Given the description of an element on the screen output the (x, y) to click on. 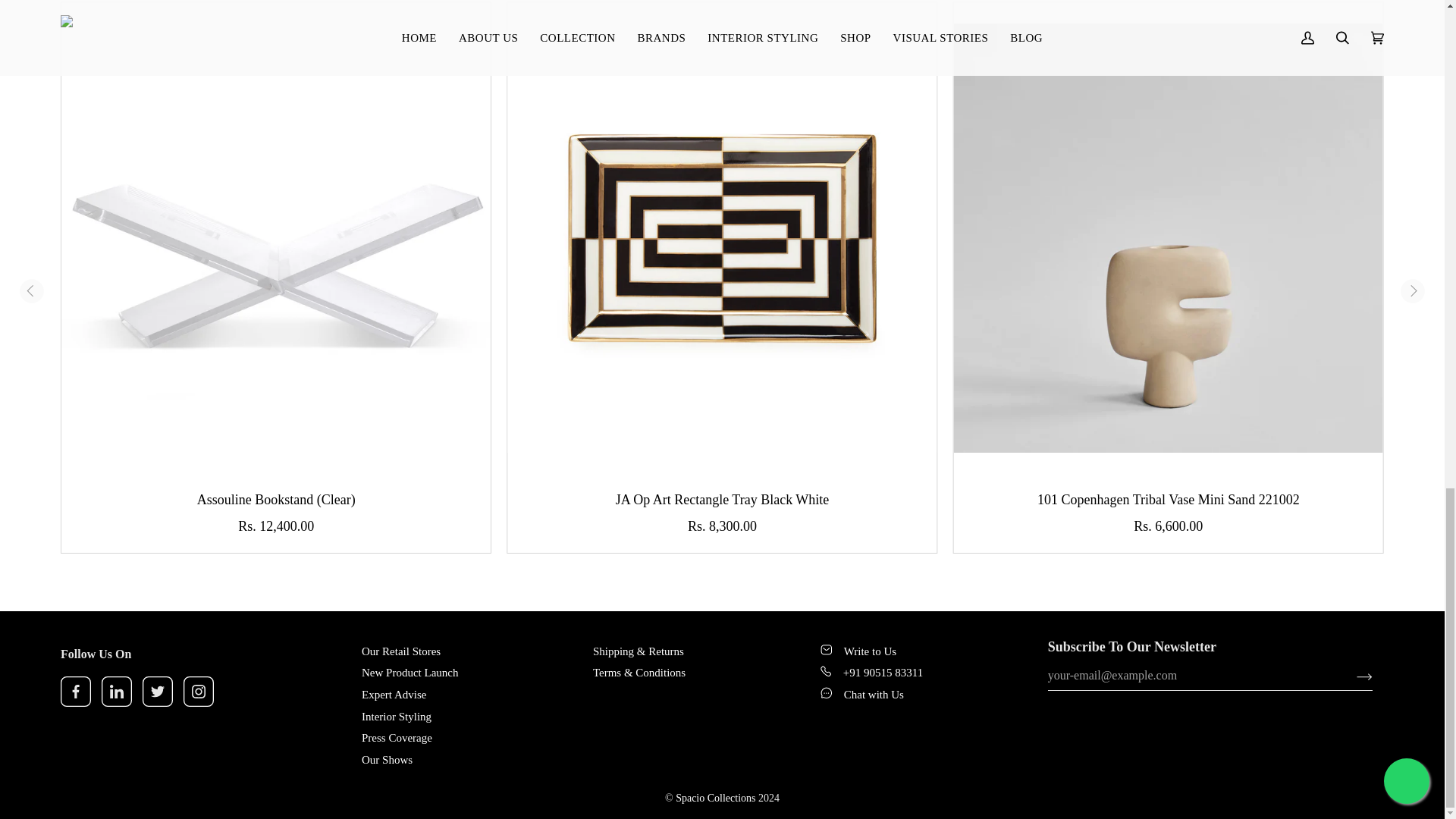
Twitter (157, 691)
Instagram (198, 691)
Facebook (75, 691)
Linkedin (116, 691)
